Given the description of an element on the screen output the (x, y) to click on. 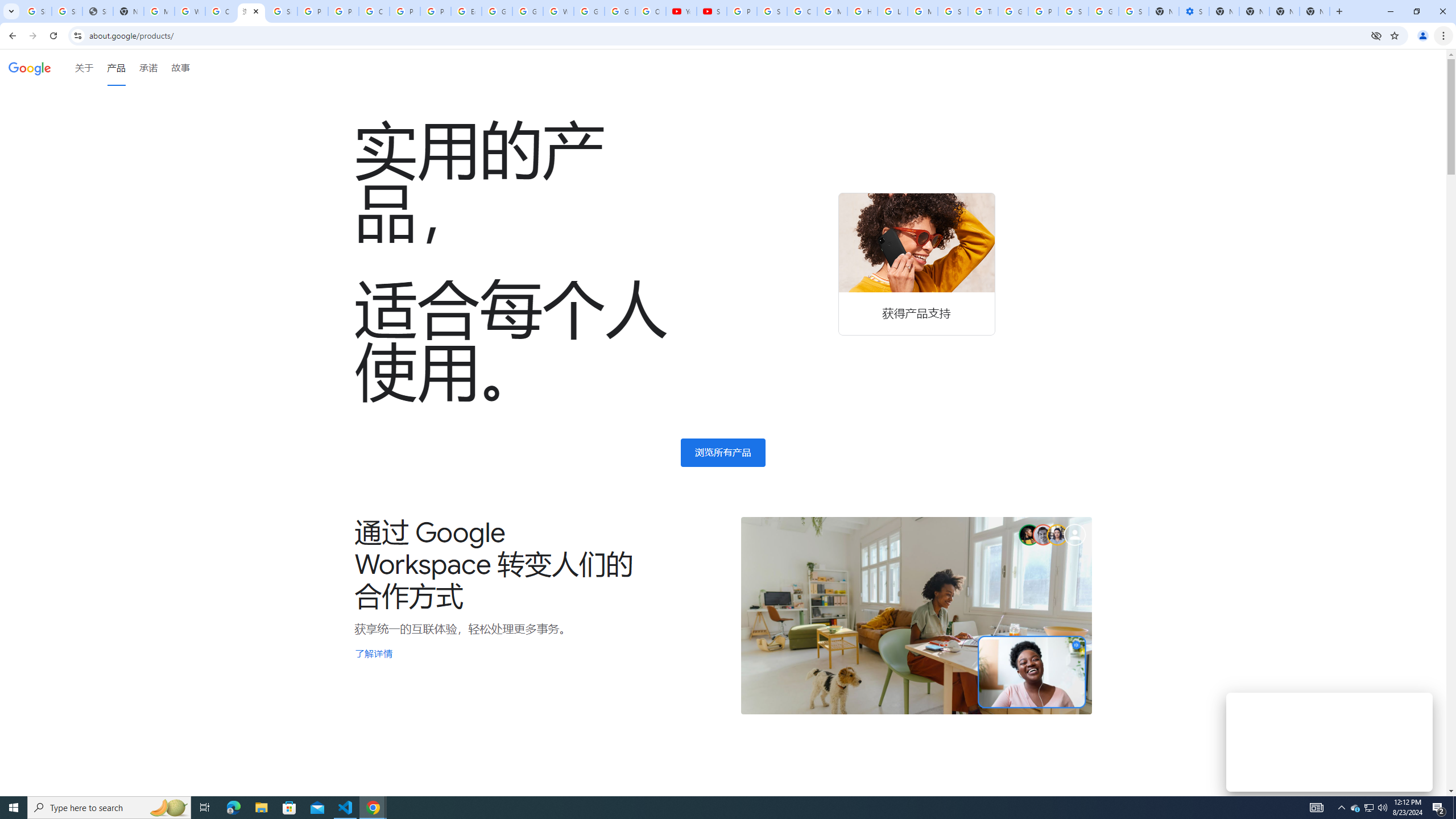
Sign in - Google Accounts (36, 11)
Google (29, 67)
Sign in - Google Accounts (282, 11)
Google Ads - Sign in (1012, 11)
